Given the description of an element on the screen output the (x, y) to click on. 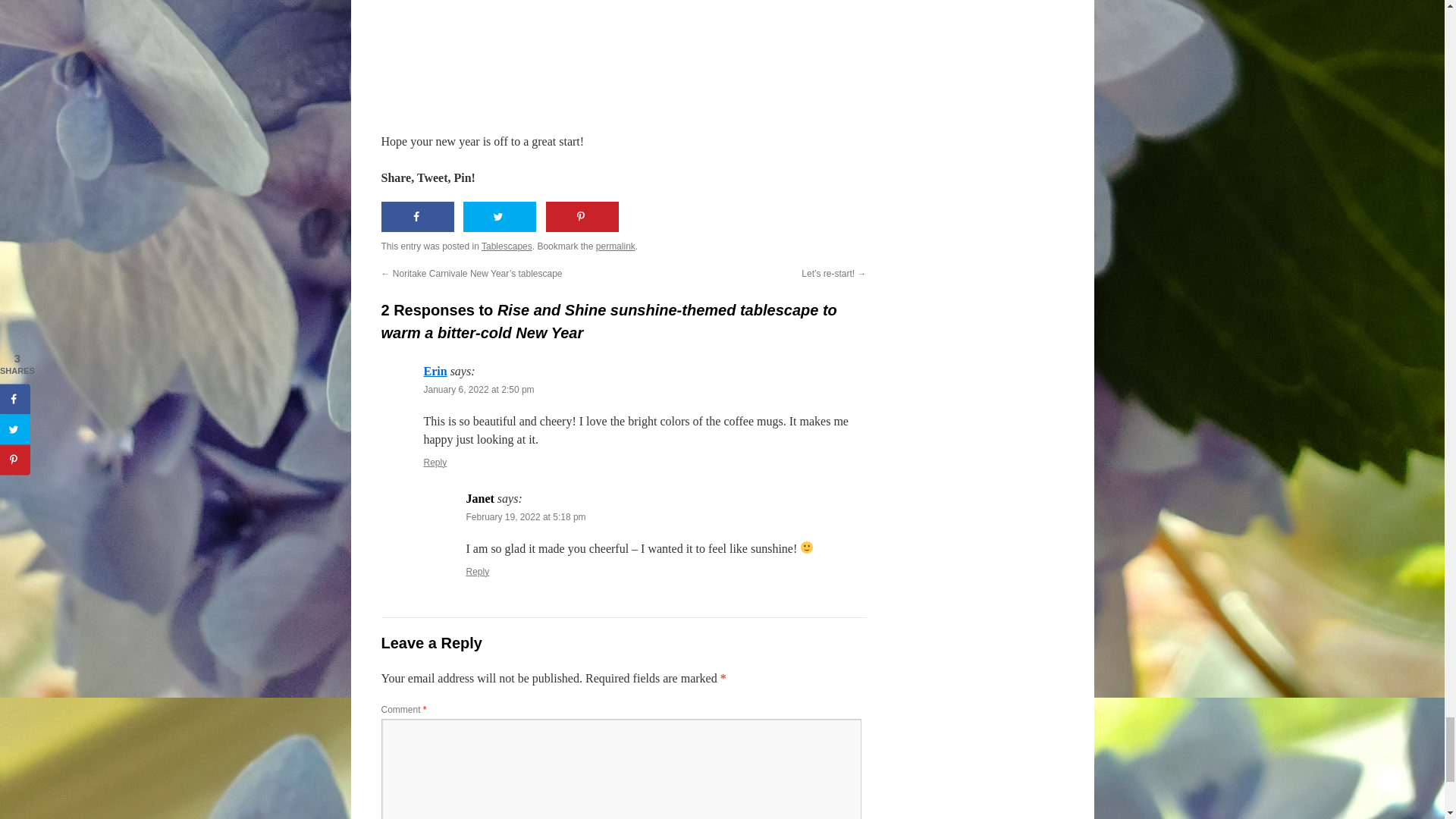
Erin (434, 370)
February 19, 2022 at 5:18 pm (525, 516)
Share on Facebook (416, 216)
permalink (614, 245)
Tablescapes (506, 245)
Save to Pinterest (582, 216)
Share on Twitter (499, 216)
Reply (434, 462)
Reply (477, 571)
January 6, 2022 at 2:50 pm (478, 389)
